Given the description of an element on the screen output the (x, y) to click on. 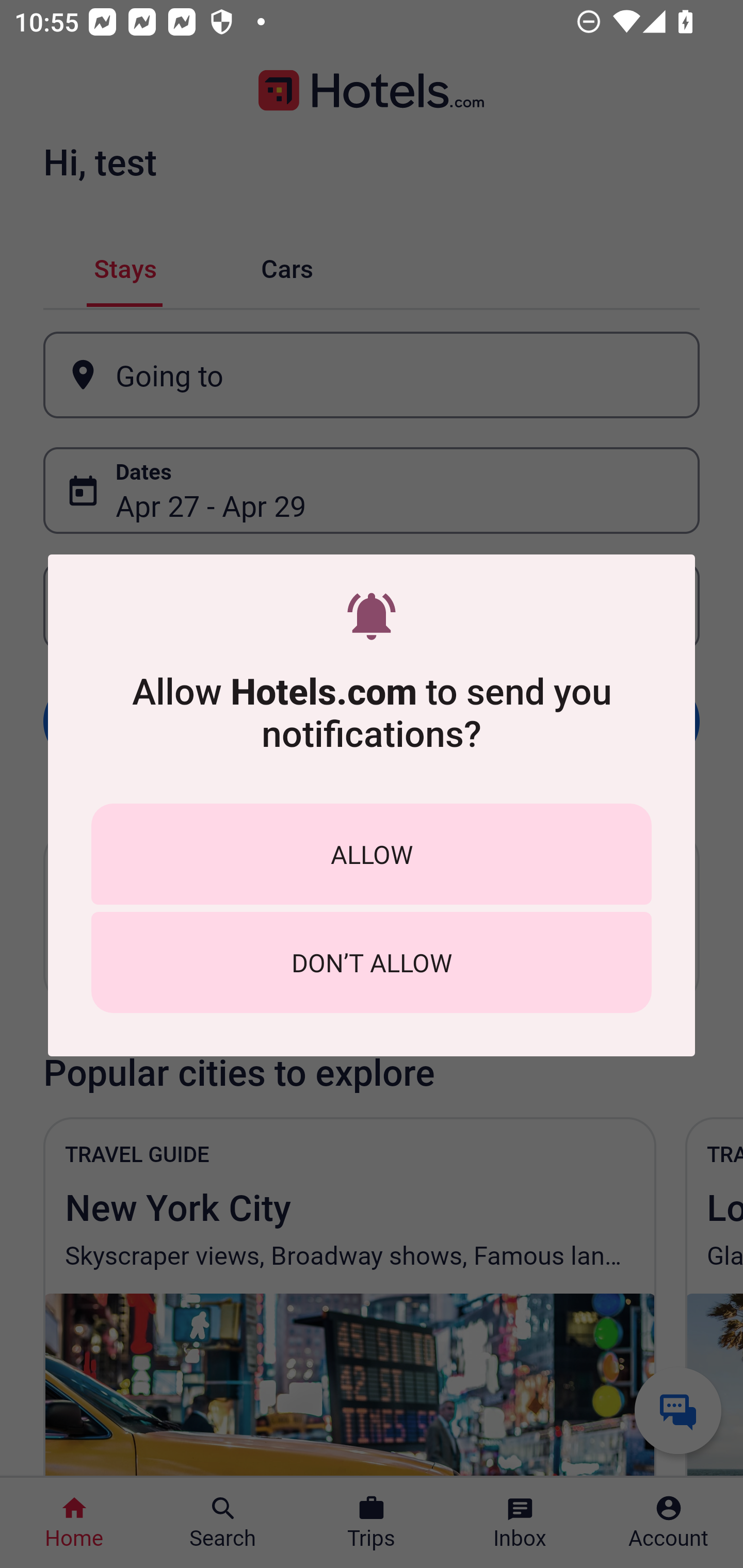
ALLOW (371, 853)
DON’T ALLOW (371, 962)
